Given the description of an element on the screen output the (x, y) to click on. 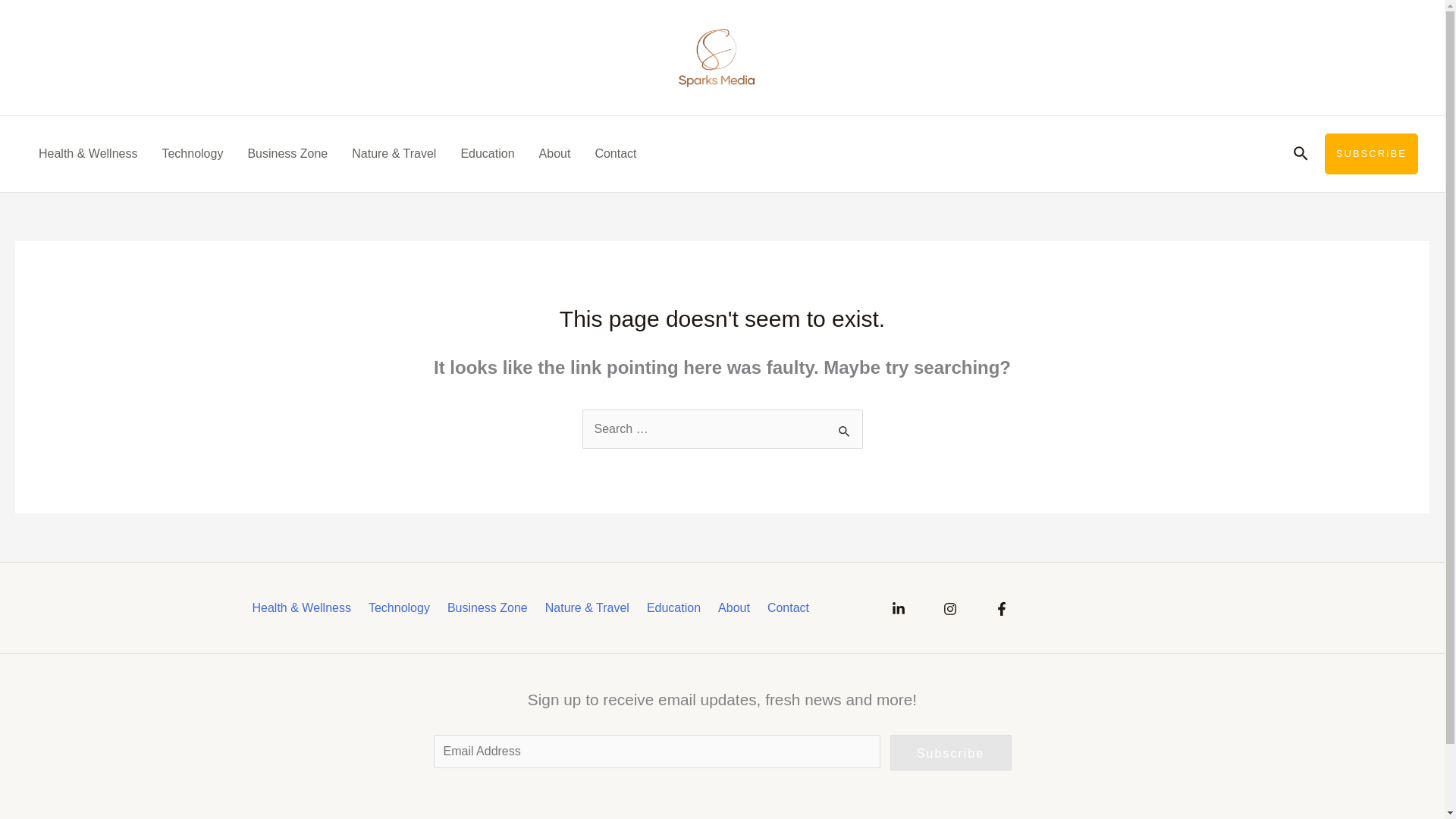
Business Zone (286, 153)
Technology (191, 153)
SUBSCRIBE (1371, 153)
About (736, 608)
Technology (401, 608)
Search (844, 428)
Education (675, 608)
Education (486, 153)
Search (844, 428)
Contact (791, 608)
Search (844, 428)
Subscribe (950, 752)
Business Zone (489, 608)
